Given the description of an element on the screen output the (x, y) to click on. 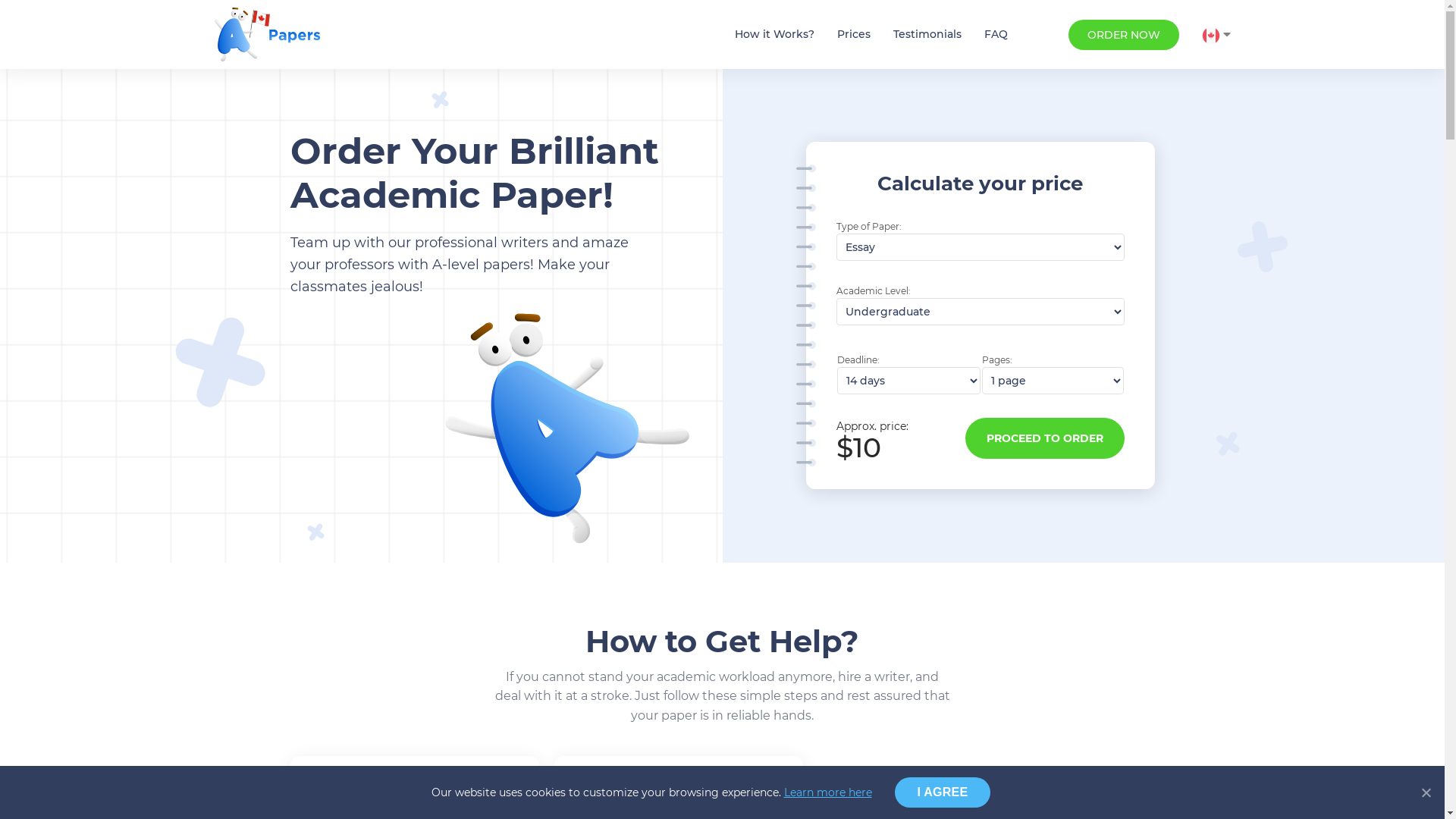
Prices Element type: text (853, 34)
FAQ Element type: text (995, 34)
ORDER NOW Element type: text (1122, 34)
APapers.ca Element type: hover (266, 34)
Select language... Element type: hover (1215, 34)
PROCEED TO ORDER Element type: text (1043, 437)
How it Works? Element type: text (773, 34)
I AGREE Element type: text (942, 792)
Learn more here Element type: text (828, 792)
Testimonials Element type: text (927, 34)
